Given the description of an element on the screen output the (x, y) to click on. 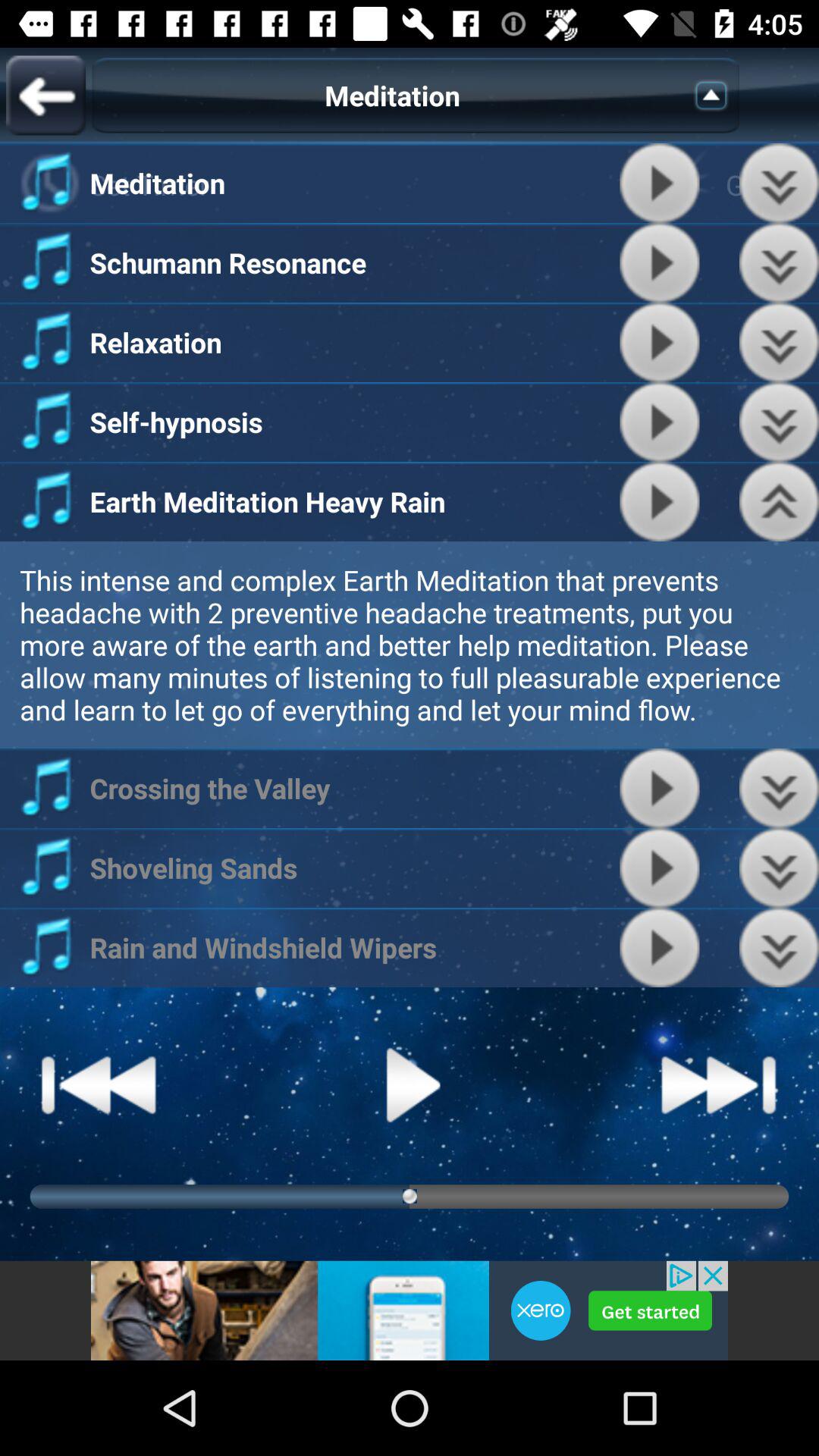
go to search option (716, 95)
